Given the description of an element on the screen output the (x, y) to click on. 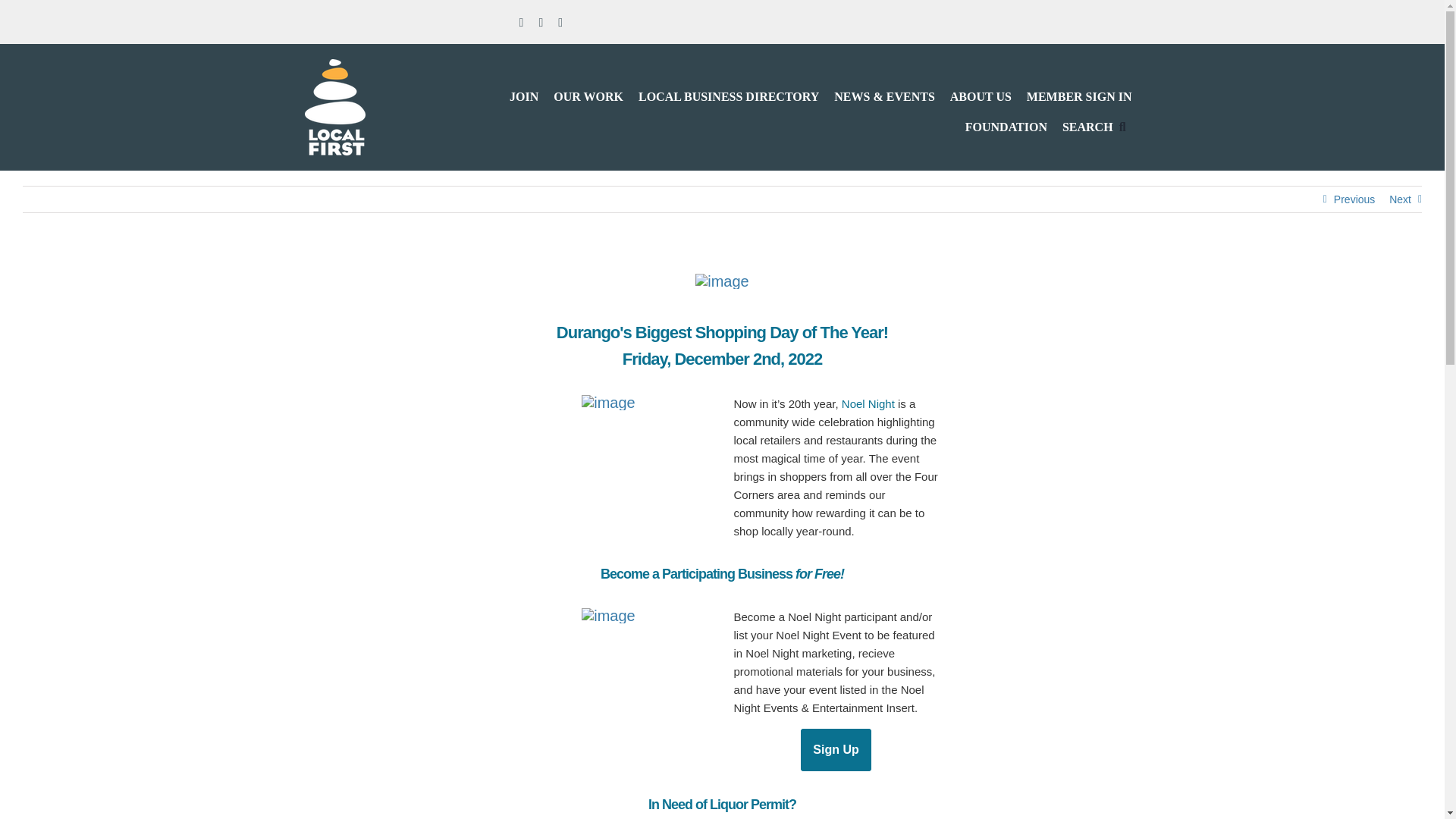
Instagram (540, 22)
LinkedIn (559, 22)
OUR WORK (588, 89)
JOIN (524, 89)
Search (1097, 119)
LOCAL BUSINESS DIRECTORY (728, 89)
Facebook (521, 22)
